Given the description of an element on the screen output the (x, y) to click on. 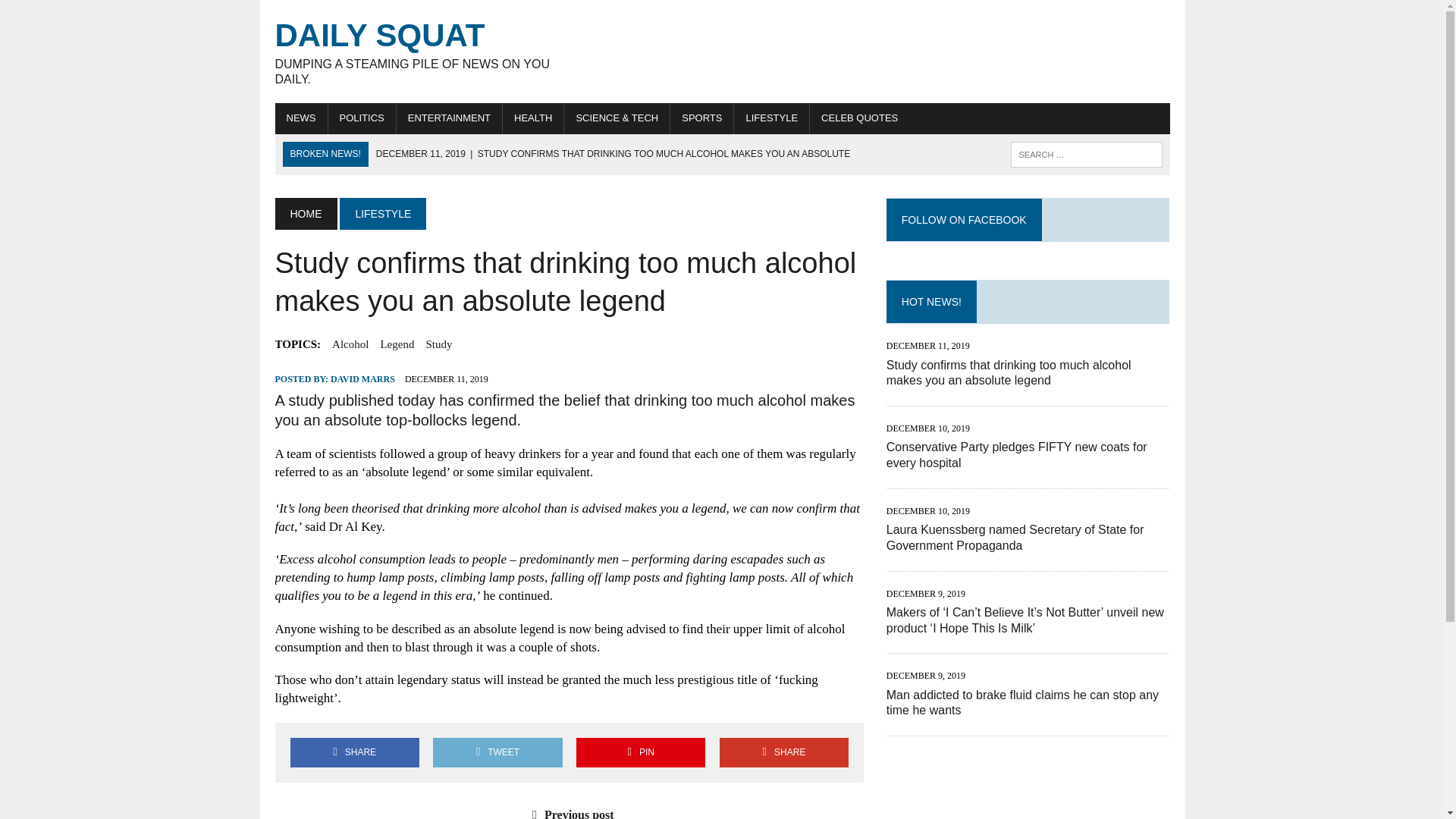
POLITICS (360, 118)
NEWS (300, 118)
Study (438, 343)
HEALTH (532, 118)
SHARE (354, 752)
HOME (305, 214)
Search (75, 14)
PIN (640, 752)
Previous post (569, 813)
Alcohol (349, 343)
TWEET (497, 752)
CELEB QUOTES (858, 118)
Share on Facebook (354, 752)
SHARE (783, 752)
SPORTS (701, 118)
